Given the description of an element on the screen output the (x, y) to click on. 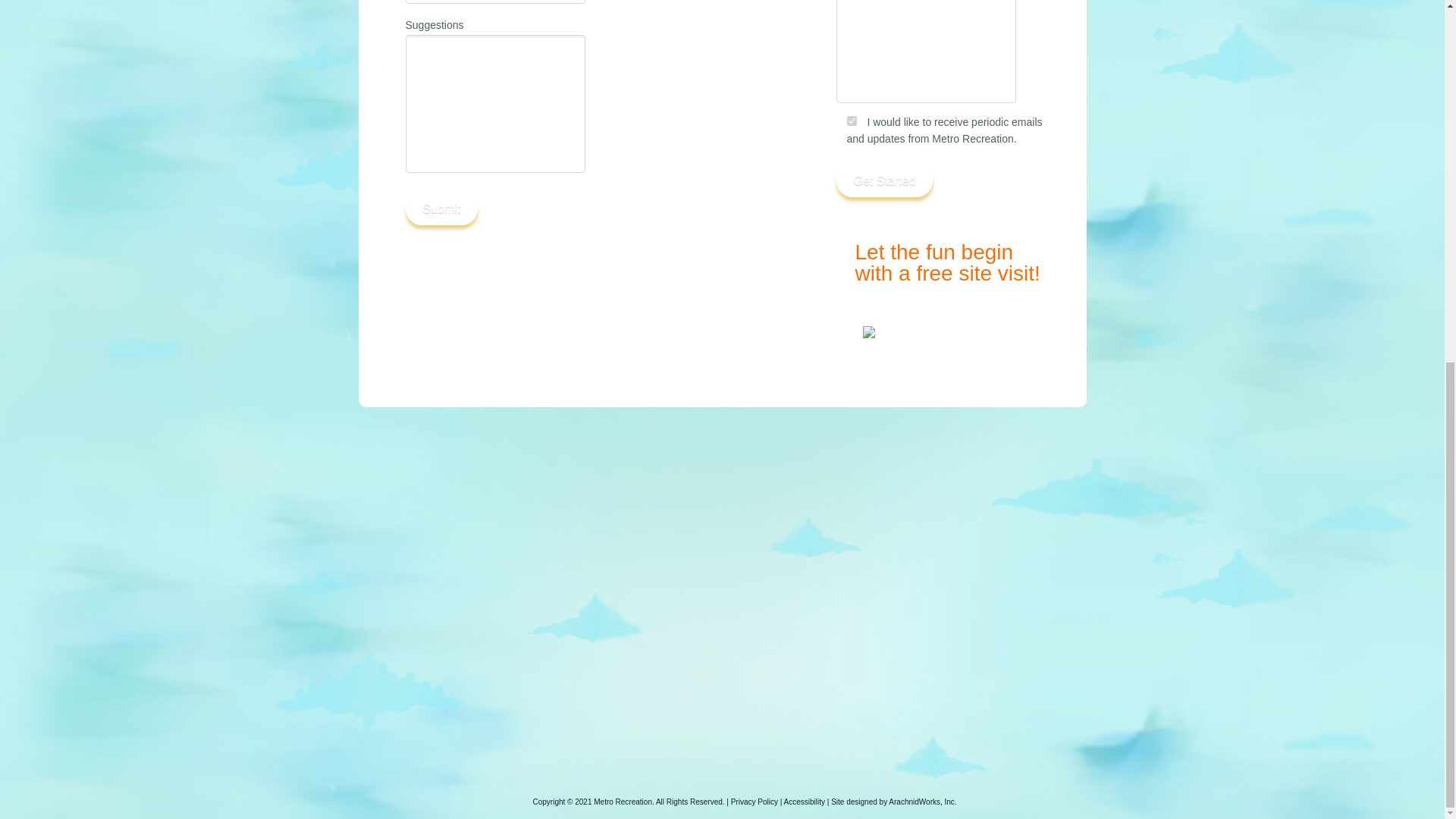
Privacy Policy (753, 801)
Get Started (884, 181)
Accessibility (804, 801)
ArachnidWorks, Inc. (922, 801)
1 (850, 121)
Submit (952, 262)
Submit (440, 209)
Get Started (440, 209)
VOSB (884, 181)
